Given the description of an element on the screen output the (x, y) to click on. 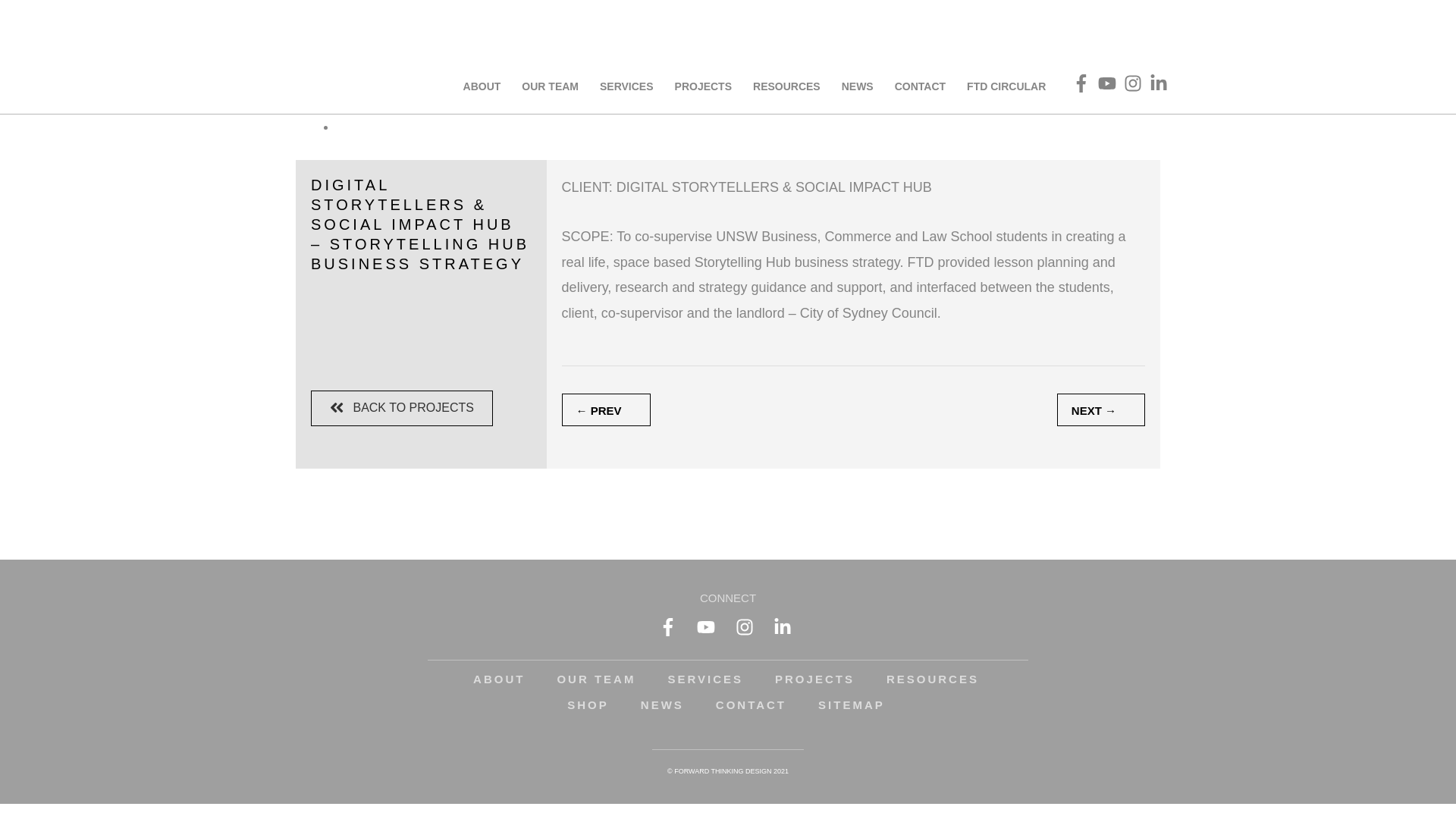
NEWS Element type: text (857, 86)
ABOUT Element type: text (498, 678)
SERVICES Element type: text (626, 86)
RESOURCES Element type: text (932, 678)
RESOURCES Element type: text (786, 86)
OUR TEAM Element type: text (595, 678)
SHOP Element type: text (587, 704)
CONTACT Element type: text (750, 704)
BACK TO PROJECTS Element type: text (401, 408)
FTD CIRCULAR Element type: text (1005, 86)
SITEMAP Element type: text (851, 704)
NEWS Element type: text (662, 704)
SERVICES Element type: text (705, 678)
CONTACT Element type: text (919, 86)
PROJECTS Element type: text (702, 86)
OUR TEAM Element type: text (549, 86)
PROJECTS Element type: text (814, 678)
ABOUT Element type: text (482, 86)
